Given the description of an element on the screen output the (x, y) to click on. 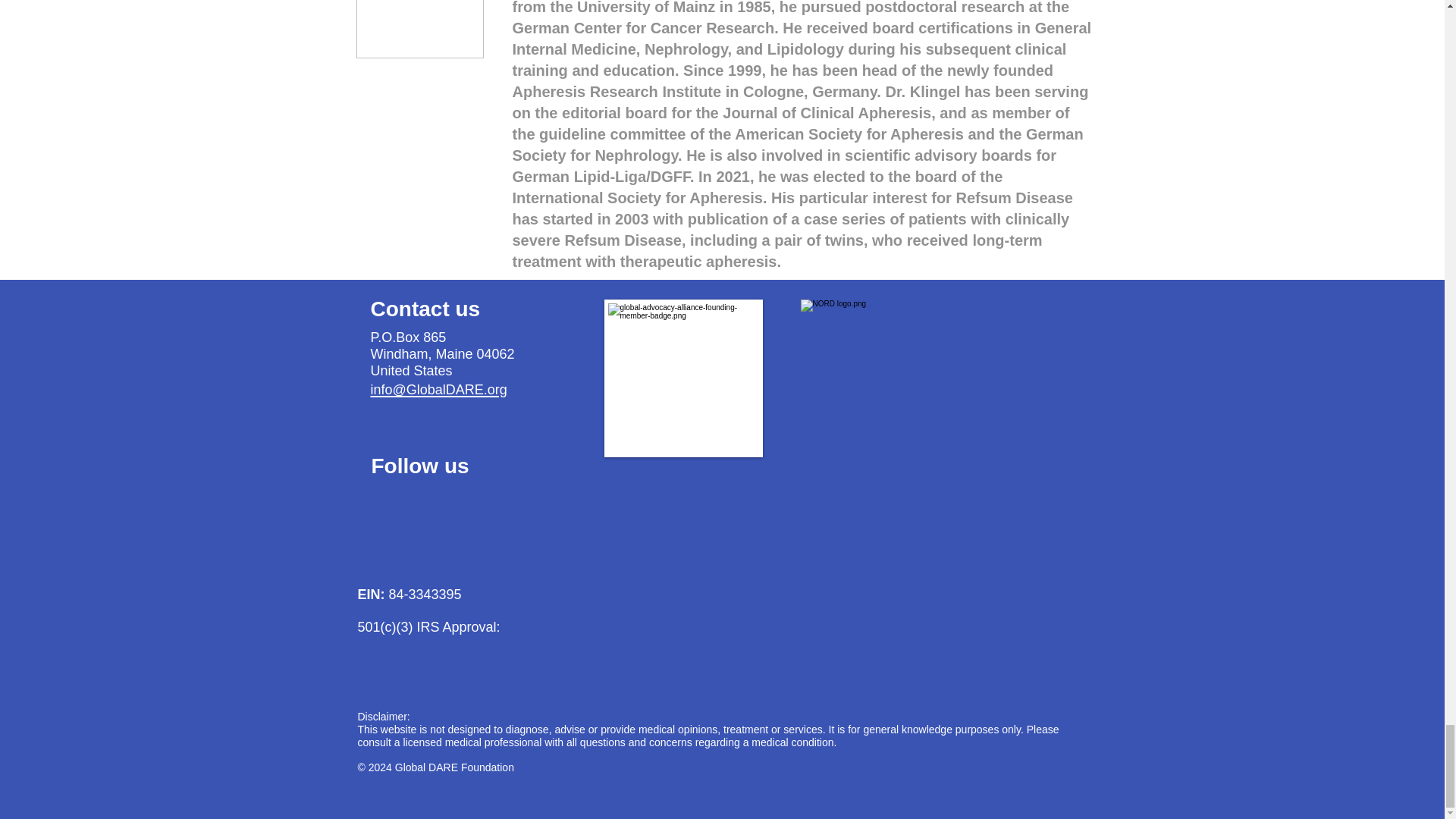
R. Klingel.jpg (419, 29)
IRS approval.pdf (524, 632)
